Given the description of an element on the screen output the (x, y) to click on. 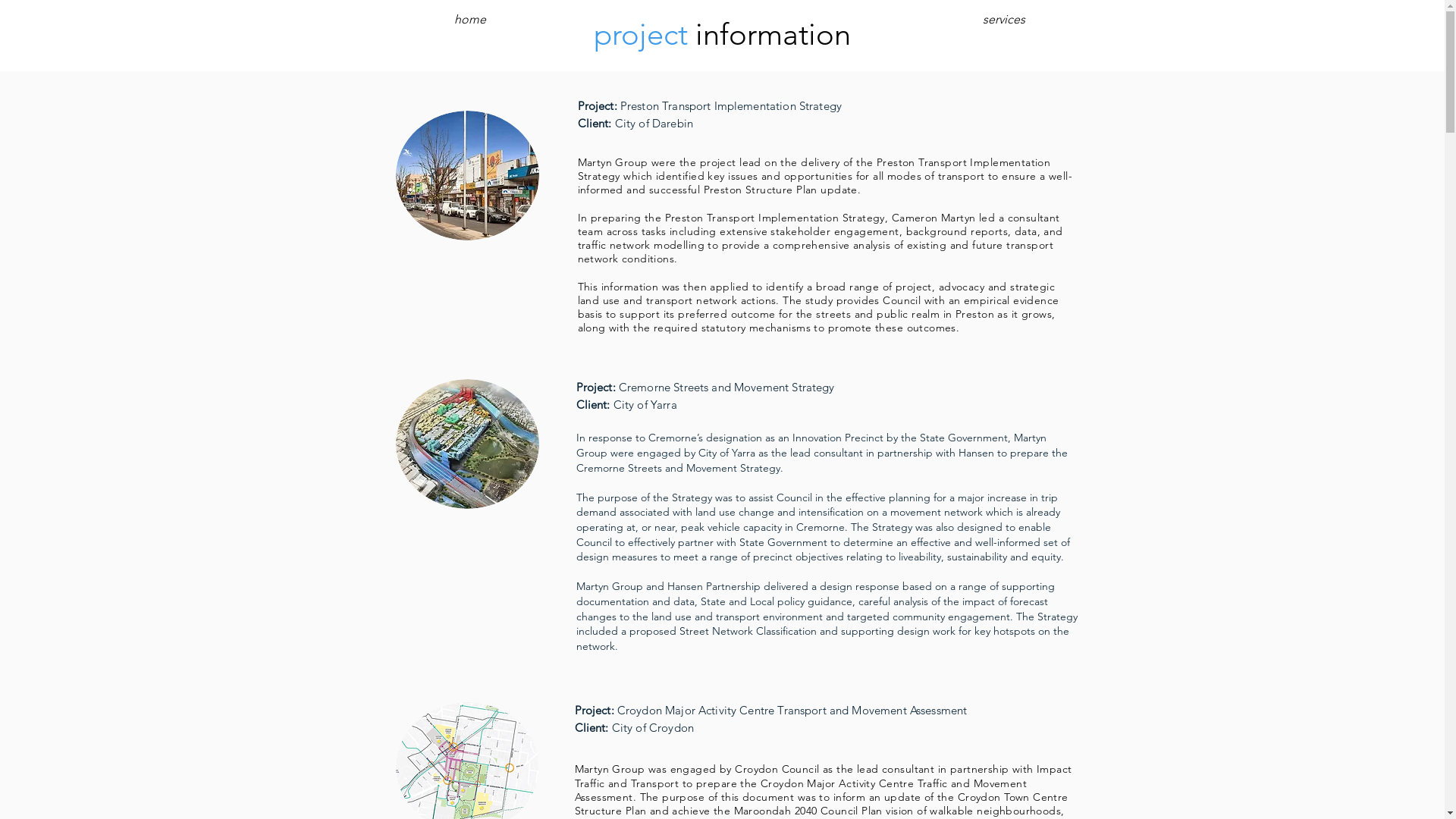
home Element type: text (469, 19)
iStock_000015641393_Small.jpg Element type: hover (467, 175)
services Element type: text (1004, 19)
iStock_000015641393_Small.jpg Element type: hover (467, 443)
